Given the description of an element on the screen output the (x, y) to click on. 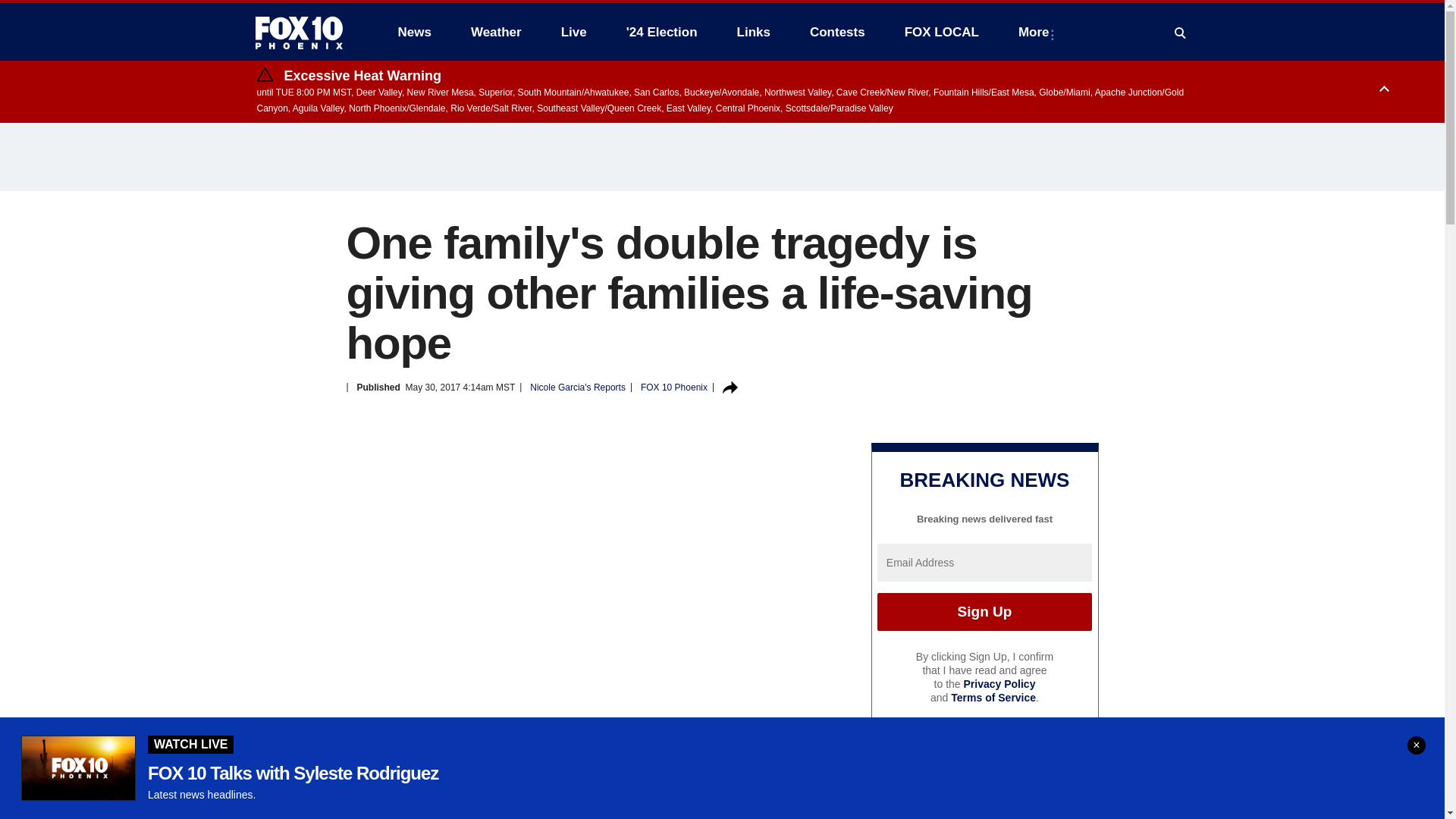
Live (573, 32)
Contests (837, 32)
FOX LOCAL (941, 32)
Links (754, 32)
More (1036, 32)
'24 Election (662, 32)
News (413, 32)
Weather (496, 32)
Sign Up (984, 611)
